Given the description of an element on the screen output the (x, y) to click on. 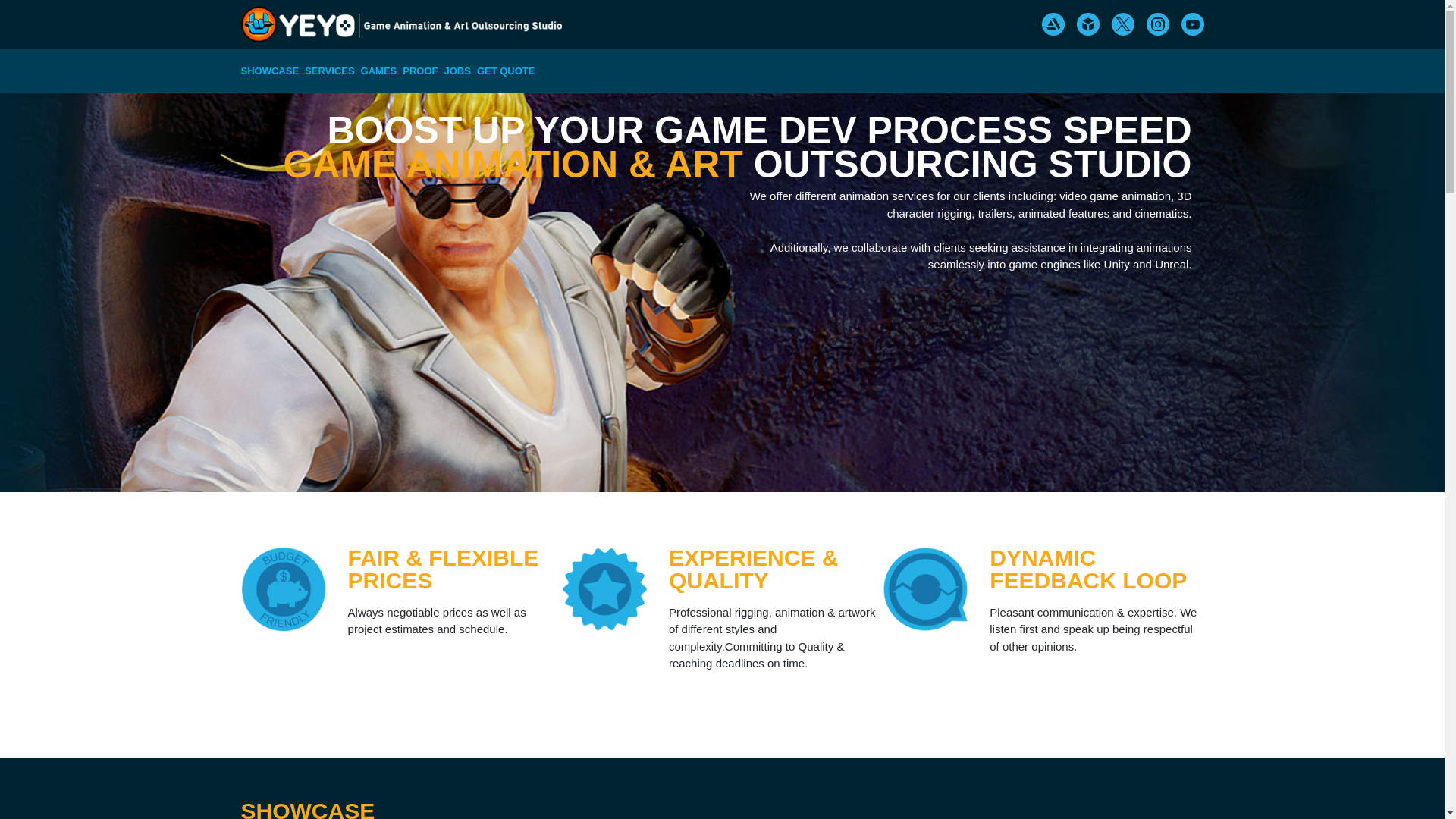
SERVICES (329, 71)
GET QUOTE (963, 324)
SHOWCASE (270, 71)
GET QUOTE (506, 71)
PROOF (420, 71)
JOBS (457, 71)
GAMES (379, 71)
